Given the description of an element on the screen output the (x, y) to click on. 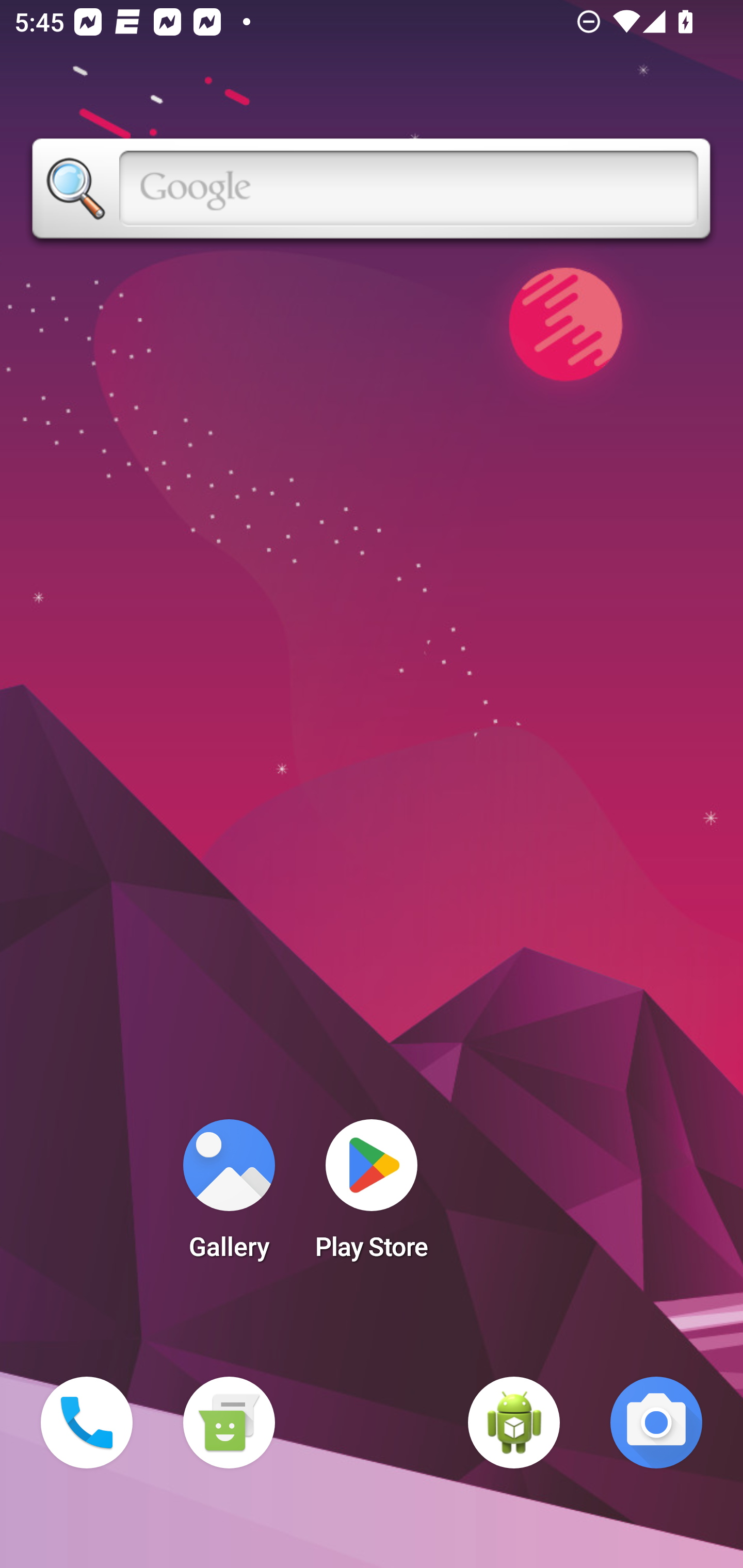
Gallery (228, 1195)
Play Store (371, 1195)
Phone (86, 1422)
Messaging (228, 1422)
WebView Browser Tester (513, 1422)
Camera (656, 1422)
